Given the description of an element on the screen output the (x, y) to click on. 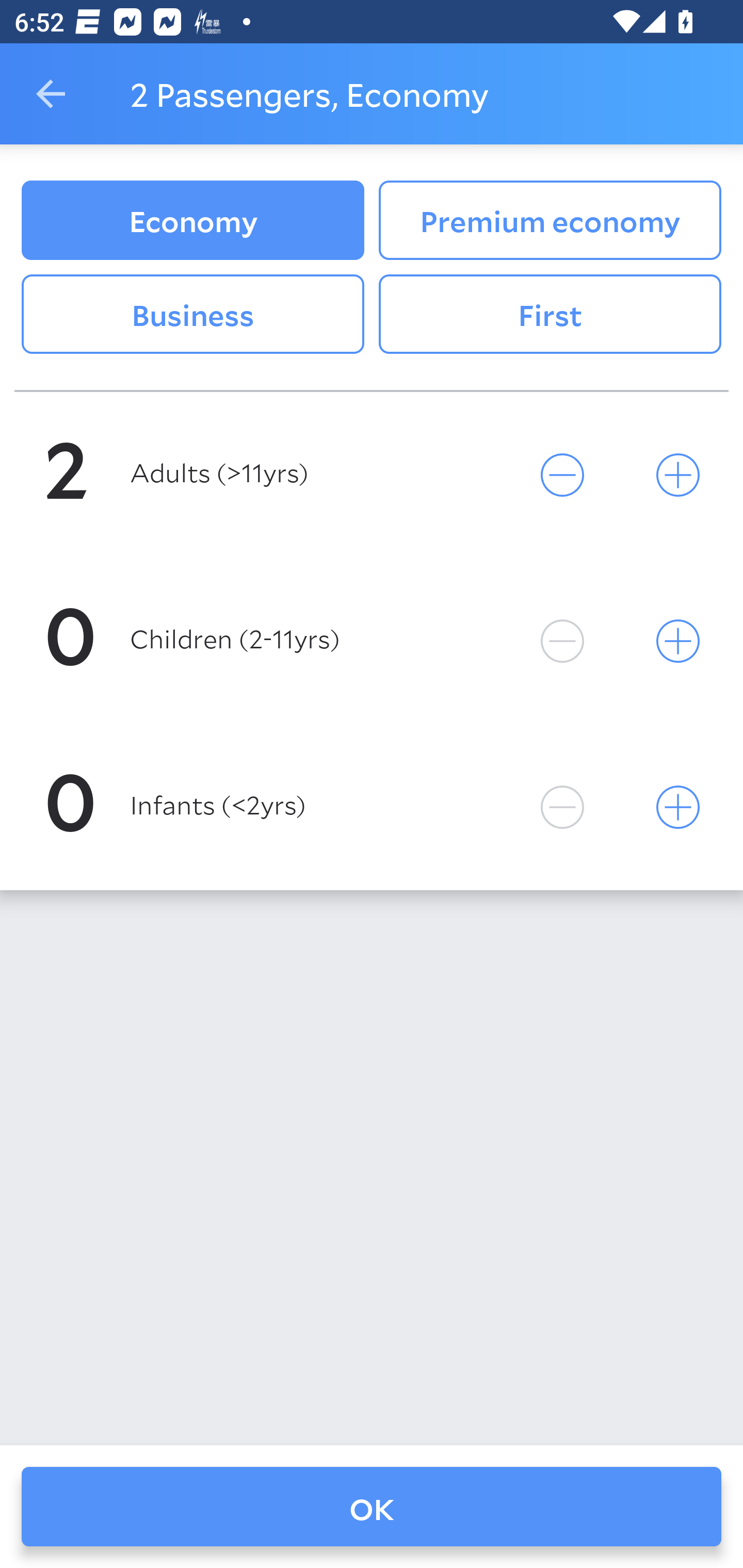
Navigate up (50, 93)
Economy (192, 220)
Premium economy (549, 220)
Business (192, 314)
First (549, 314)
OK (371, 1506)
